Given the description of an element on the screen output the (x, y) to click on. 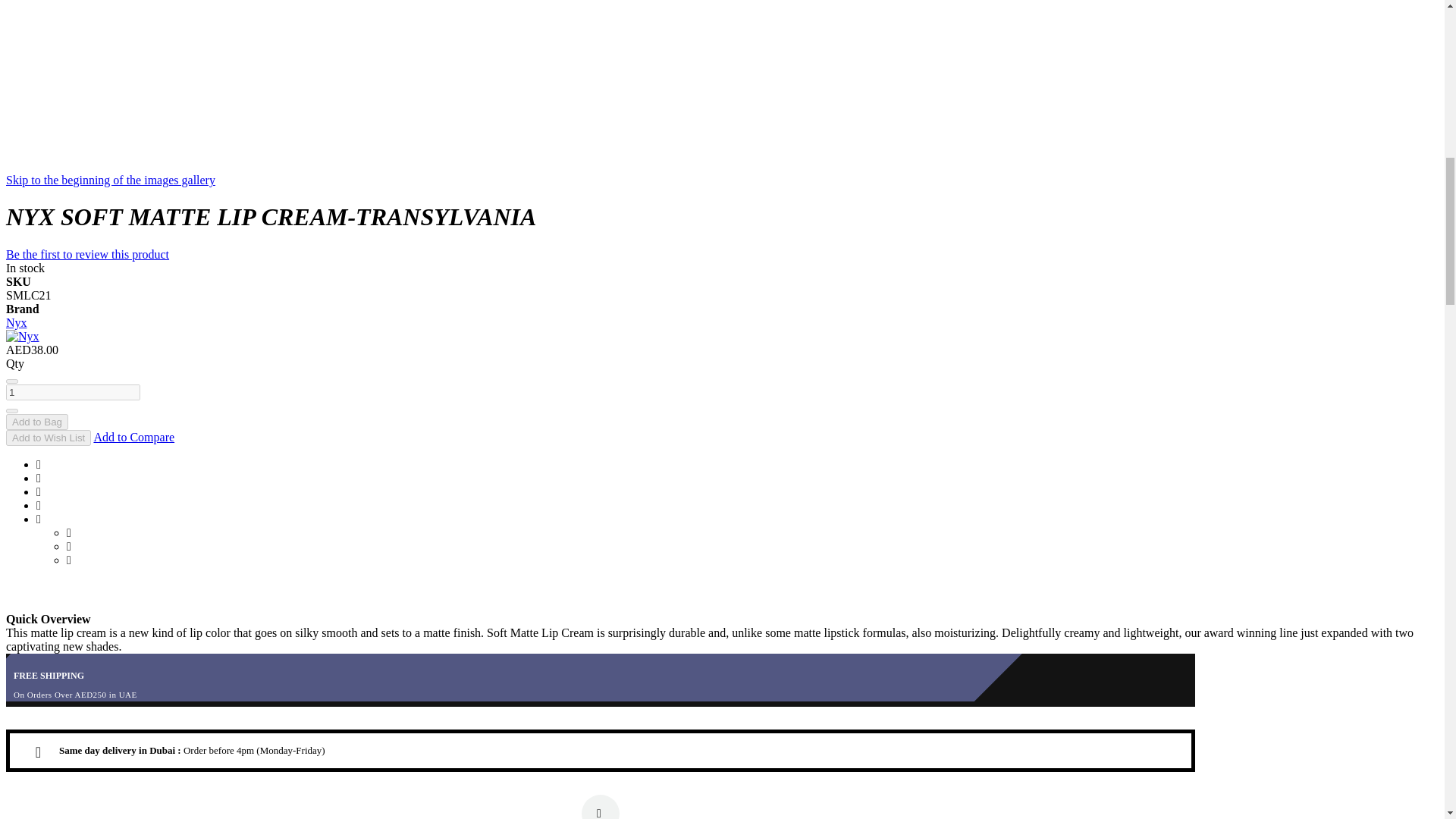
1 (72, 392)
Qty (72, 392)
Increase (11, 410)
Nyx (22, 336)
Decrease (11, 381)
Add to Bag (36, 421)
